Given the description of an element on the screen output the (x, y) to click on. 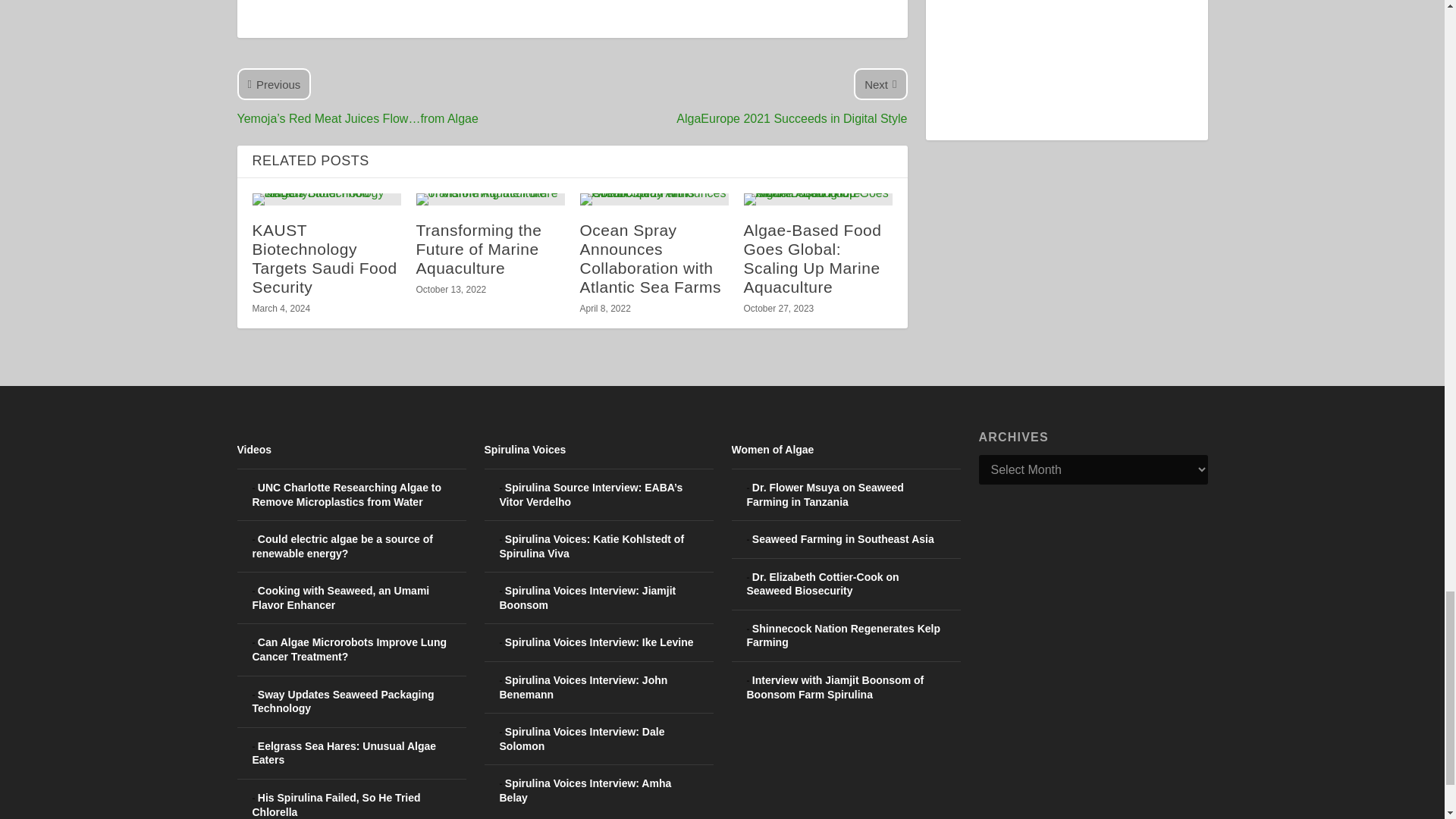
KAUST Biotechnology Targets Saudi Food Security (325, 199)
Transforming the Future of Marine Aquaculture (489, 199)
Ocean Spray Announces Collaboration with Atlantic Sea Farms (653, 199)
